Given the description of an element on the screen output the (x, y) to click on. 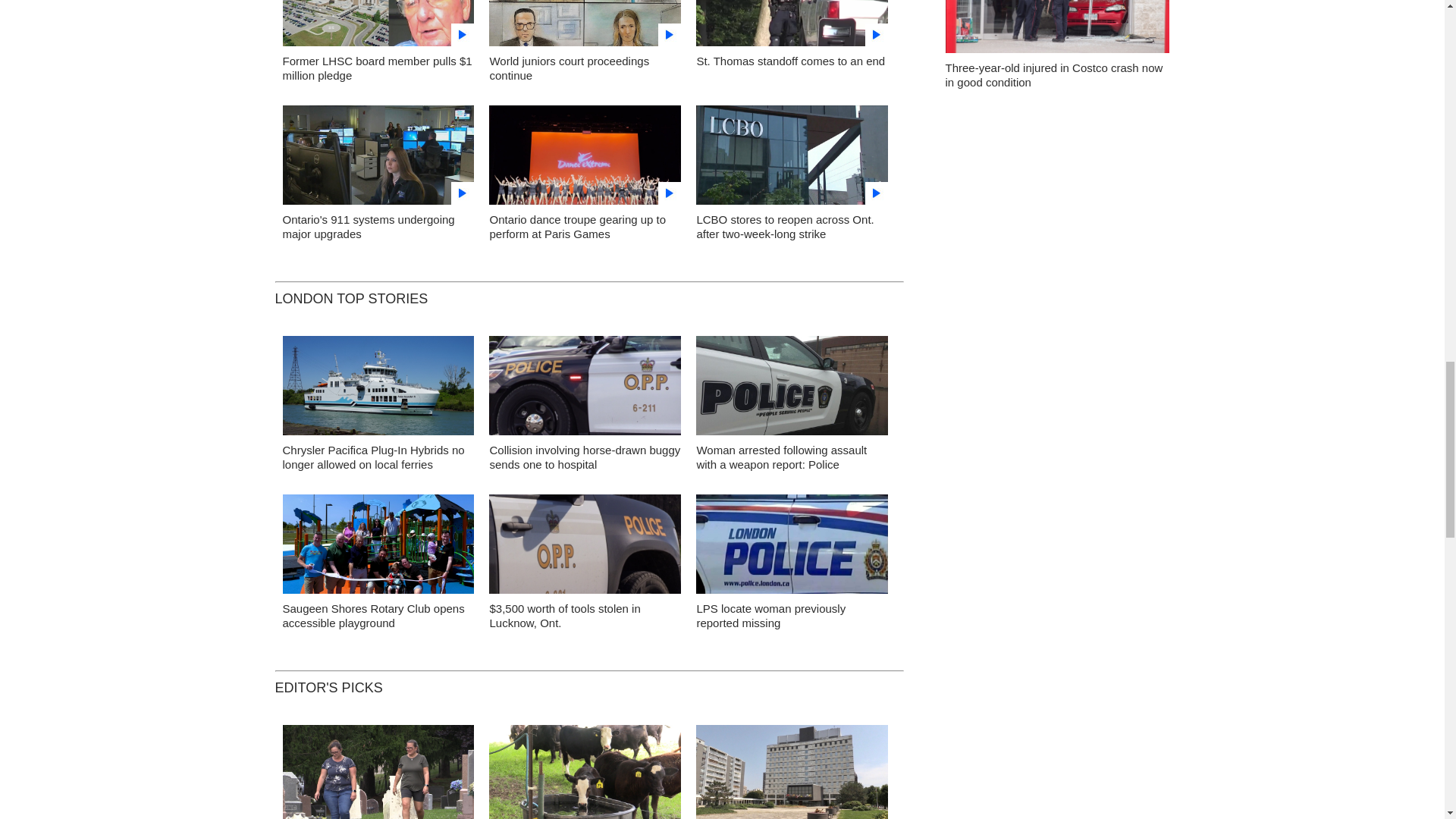
Ontario's 911 systems undergoing major upgrades (368, 226)
22-LDN-DONOR18-RPT  (378, 27)
false (585, 22)
22-LDN-JUNIORS18-VO  (585, 27)
false (585, 154)
false (378, 22)
Ontario dance troupe gearing up to perform at Paris Games (577, 226)
Cleveland Indians (171, 115)
false (378, 154)
false (791, 154)
St. Thomas standoff comes to an end (790, 60)
World juniors court proceedings continue (569, 67)
false (791, 22)
Cleveland Indians (171, 227)
